Given the description of an element on the screen output the (x, y) to click on. 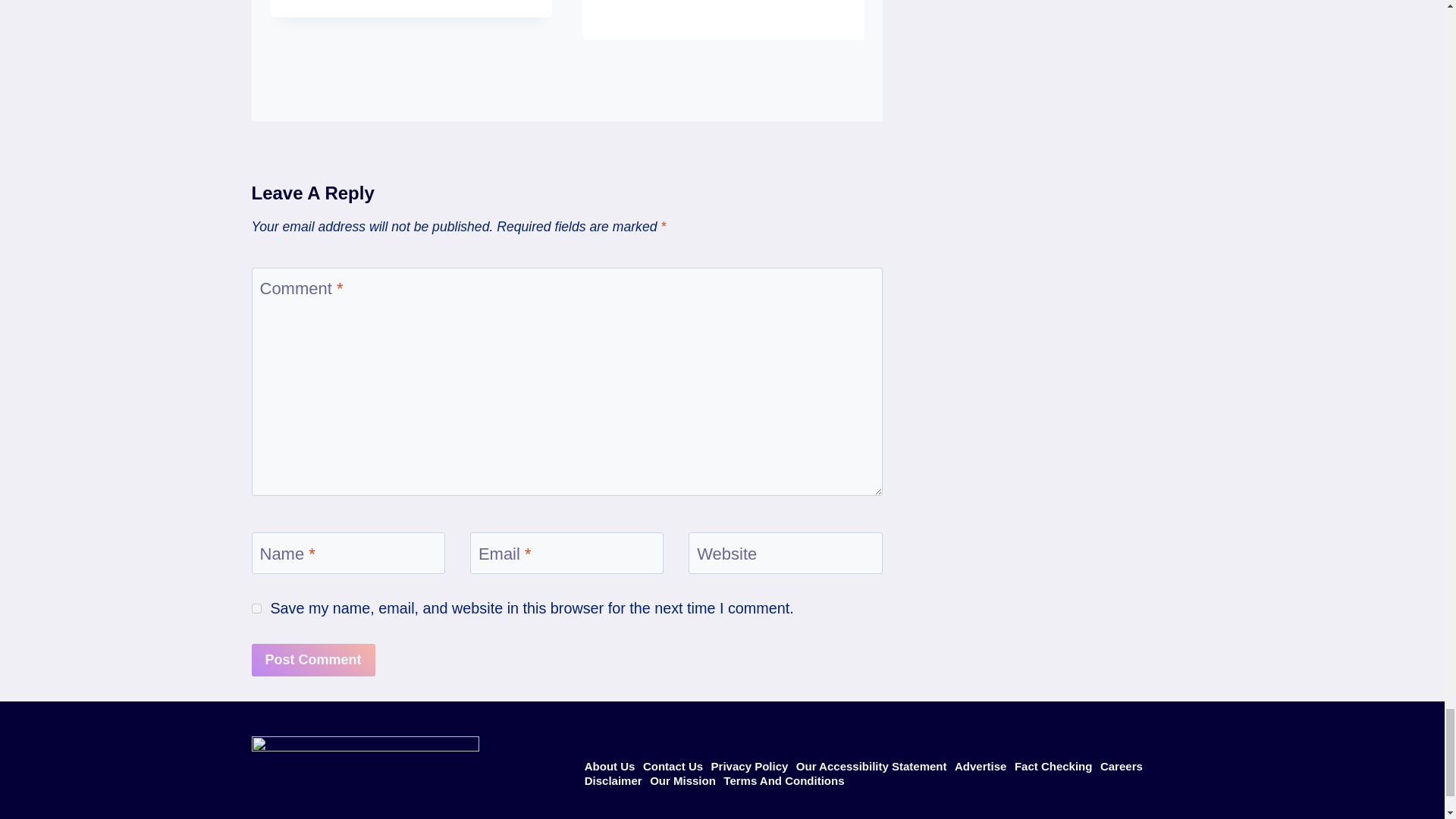
yes (256, 608)
Post Comment (313, 659)
